Given the description of an element on the screen output the (x, y) to click on. 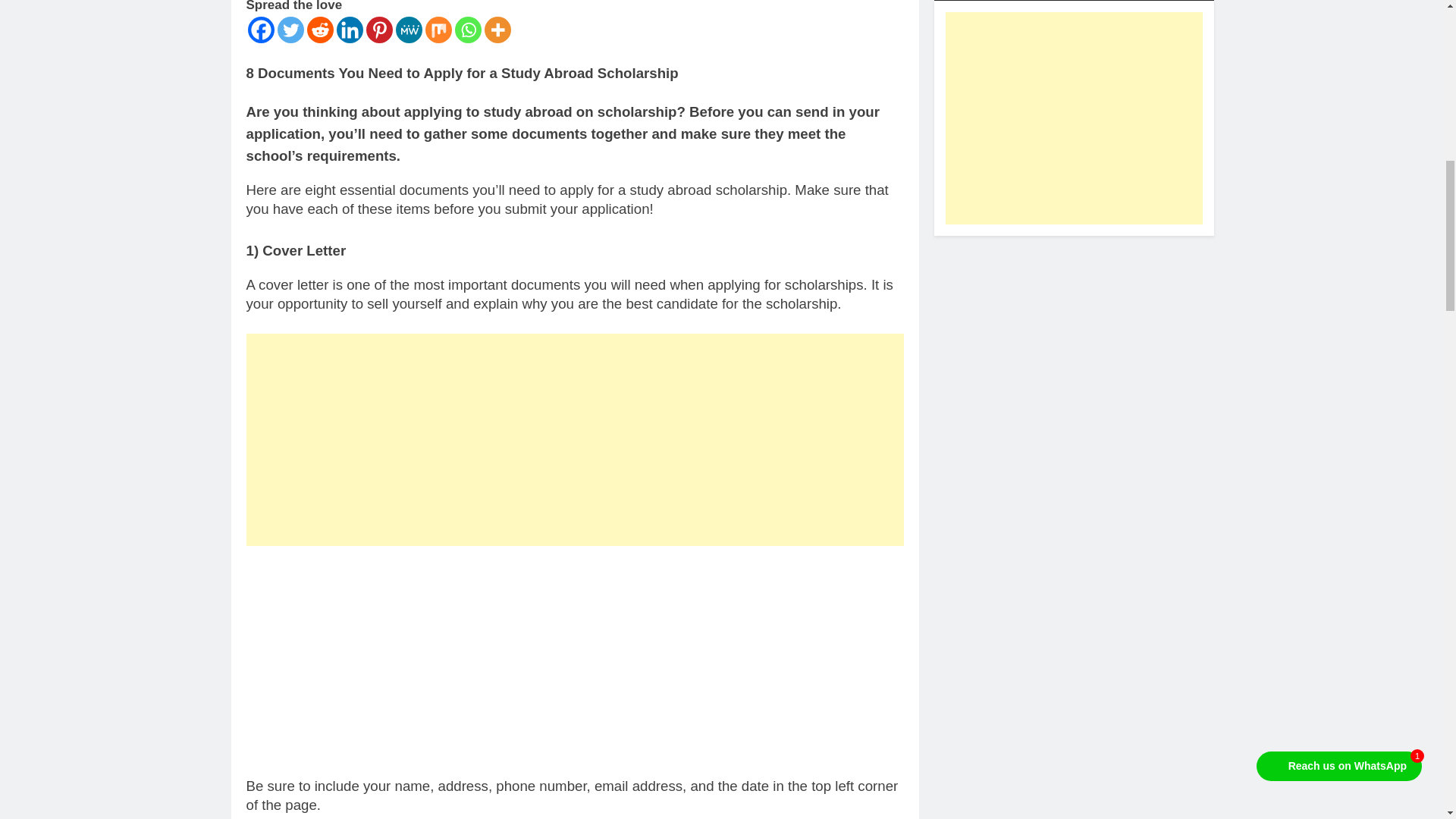
Twitter (291, 29)
Pinterest (378, 29)
MeWe (409, 29)
Reddit (319, 29)
Mix (438, 29)
Facebook (260, 29)
Linkedin (349, 29)
More (497, 29)
